Given the description of an element on the screen output the (x, y) to click on. 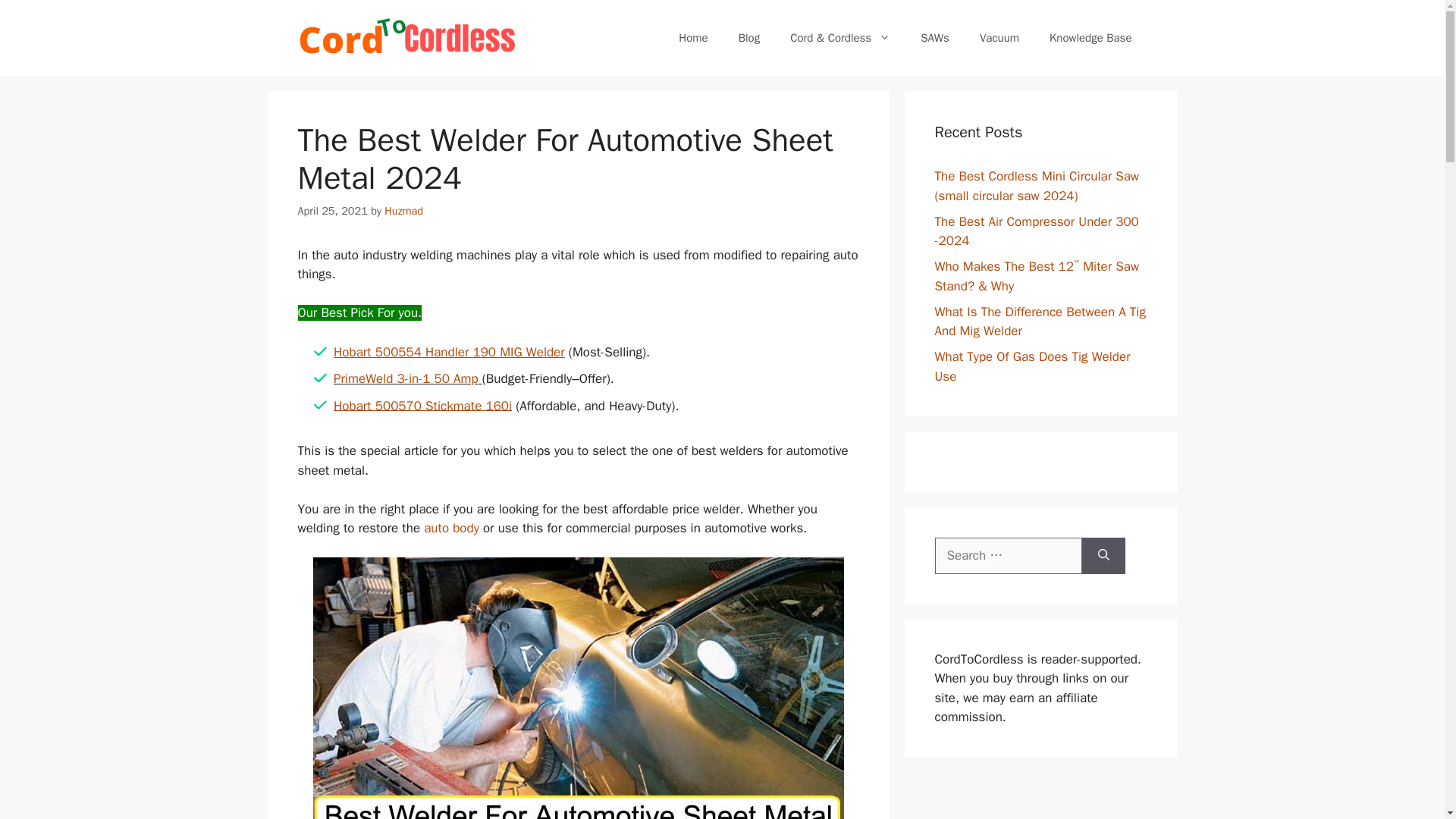
Huzmad (403, 210)
Knowledge Base (1090, 37)
Hobart 500554 Handler 190 MIG Welder (451, 351)
auto body (451, 528)
Blog (748, 37)
CordToCordless (406, 36)
View all posts by Huzmad (403, 210)
CordToCordless (406, 37)
PrimeWeld 3-in-1 50 Amp (406, 378)
Home (692, 37)
